Given the description of an element on the screen output the (x, y) to click on. 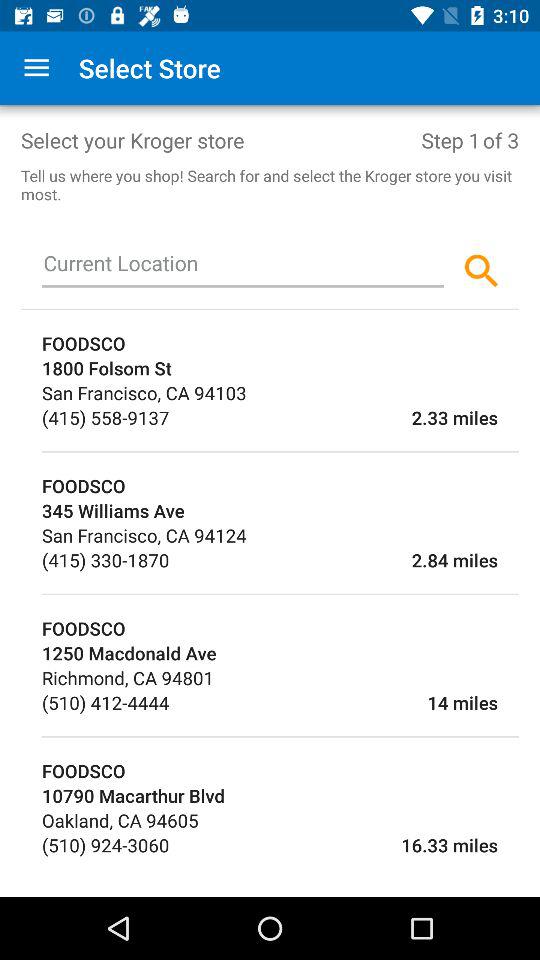
click the icon below the (415) 330-1870 (280, 594)
